Given the description of an element on the screen output the (x, y) to click on. 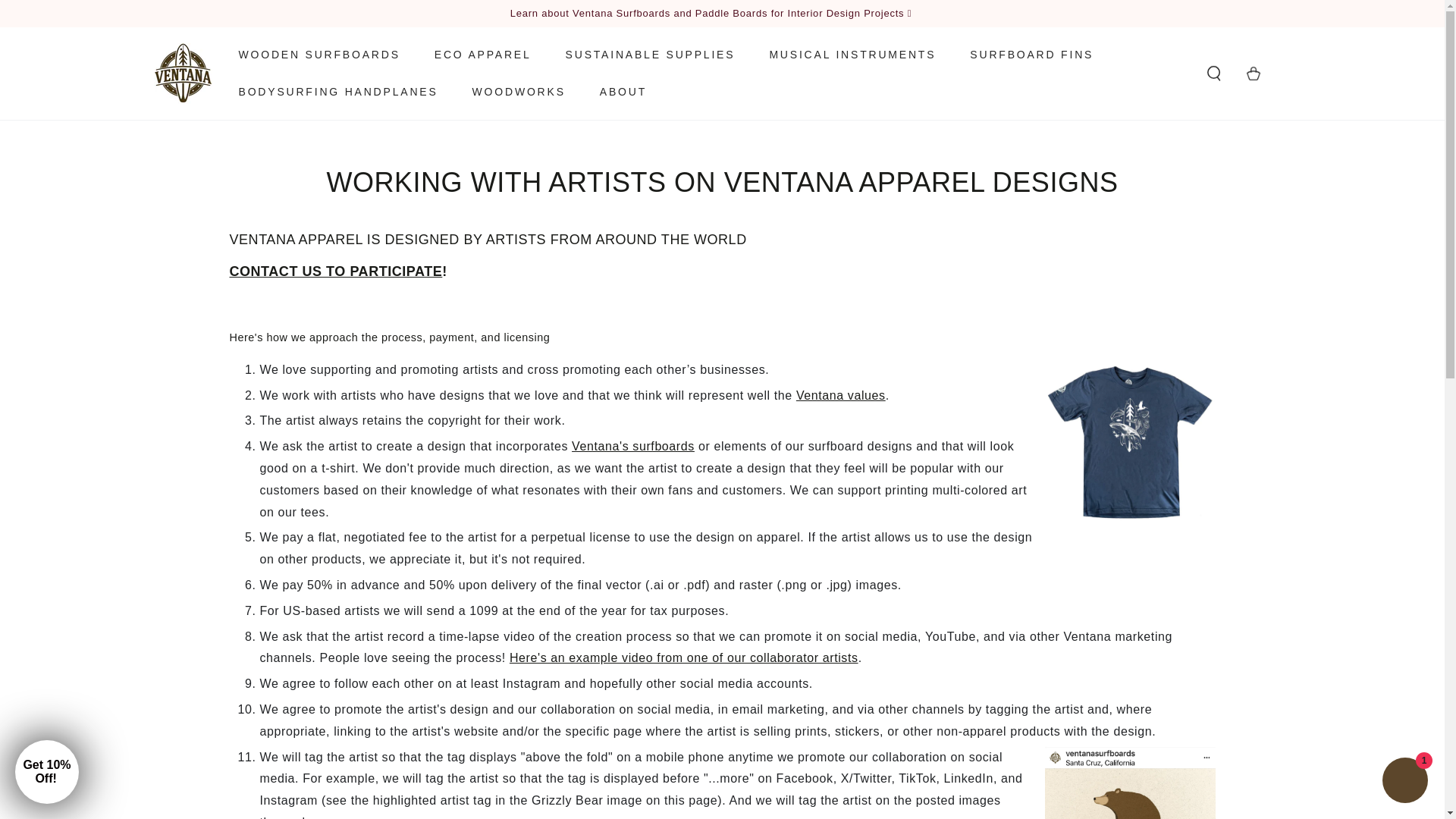
Shopify online store chat (1404, 781)
SKIP TO CONTENT (67, 14)
Contact Ventana (335, 271)
Ventana wooden surfboards (633, 446)
Ventana Grizzly post on Instagram (736, 760)
Ventana timelapse by Noa Mazali (684, 658)
Ventana Values (840, 396)
